Given the description of an element on the screen output the (x, y) to click on. 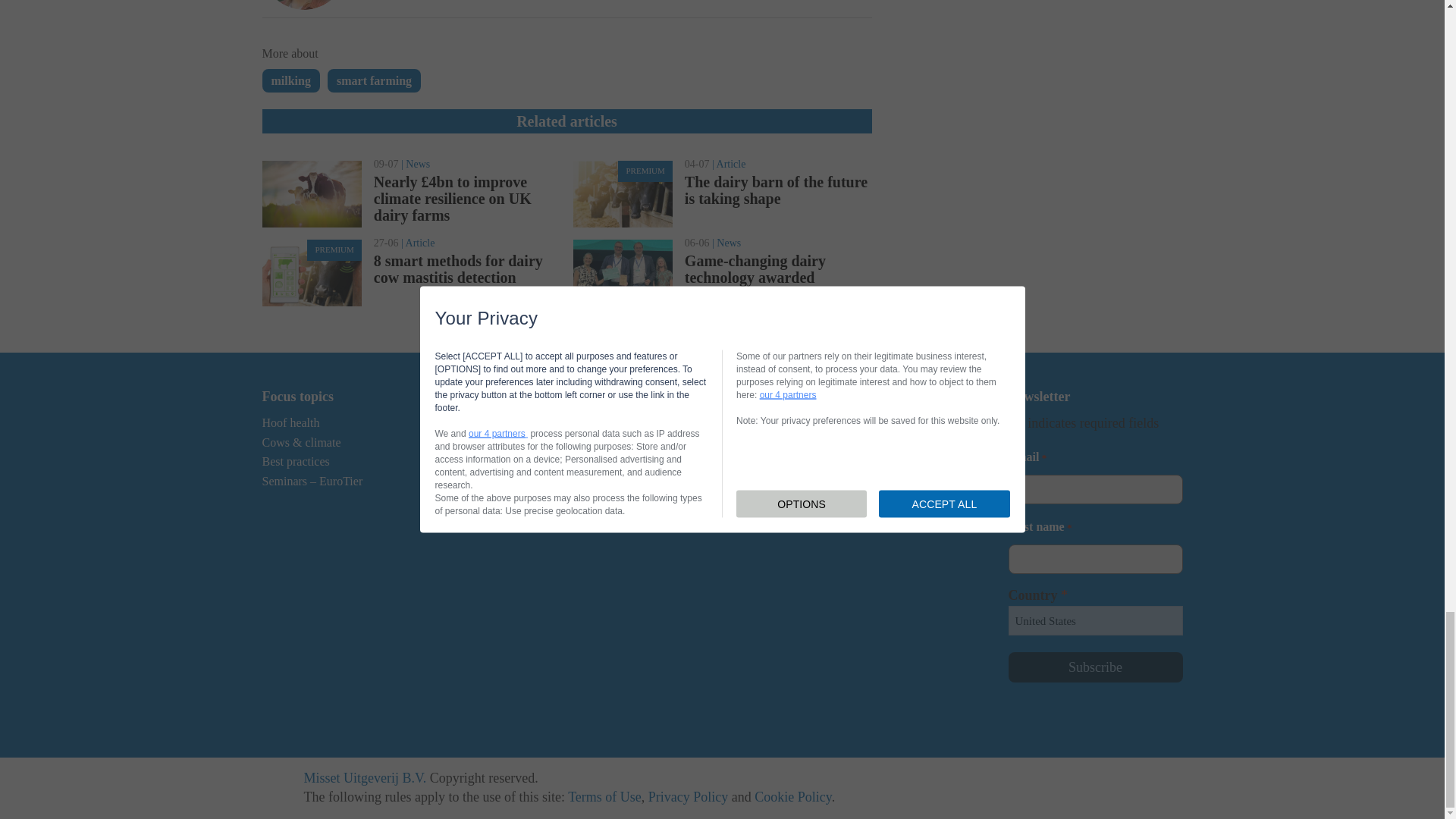
Subscribe (1095, 666)
